Given the description of an element on the screen output the (x, y) to click on. 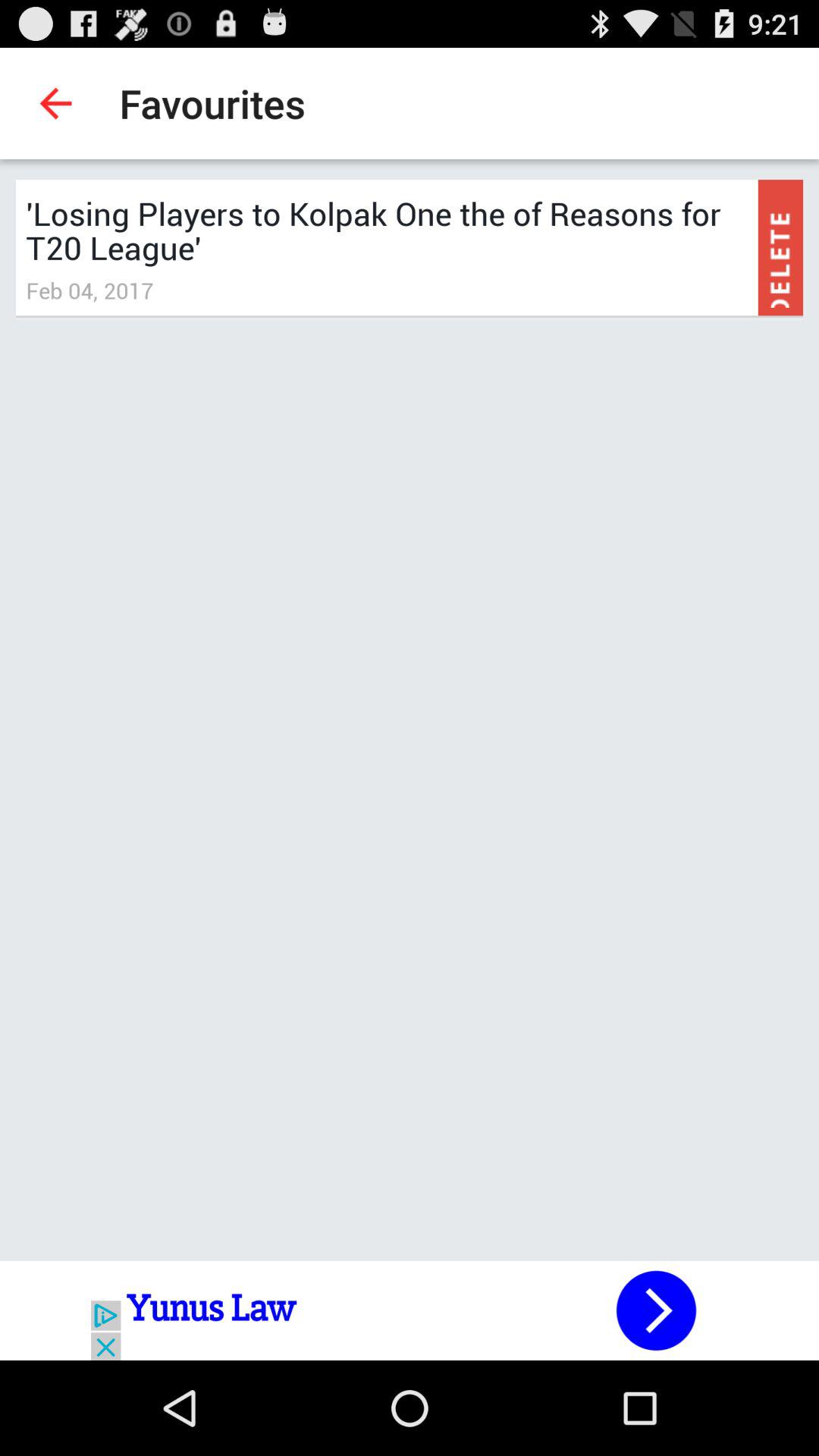
add banner (409, 1310)
